Given the description of an element on the screen output the (x, y) to click on. 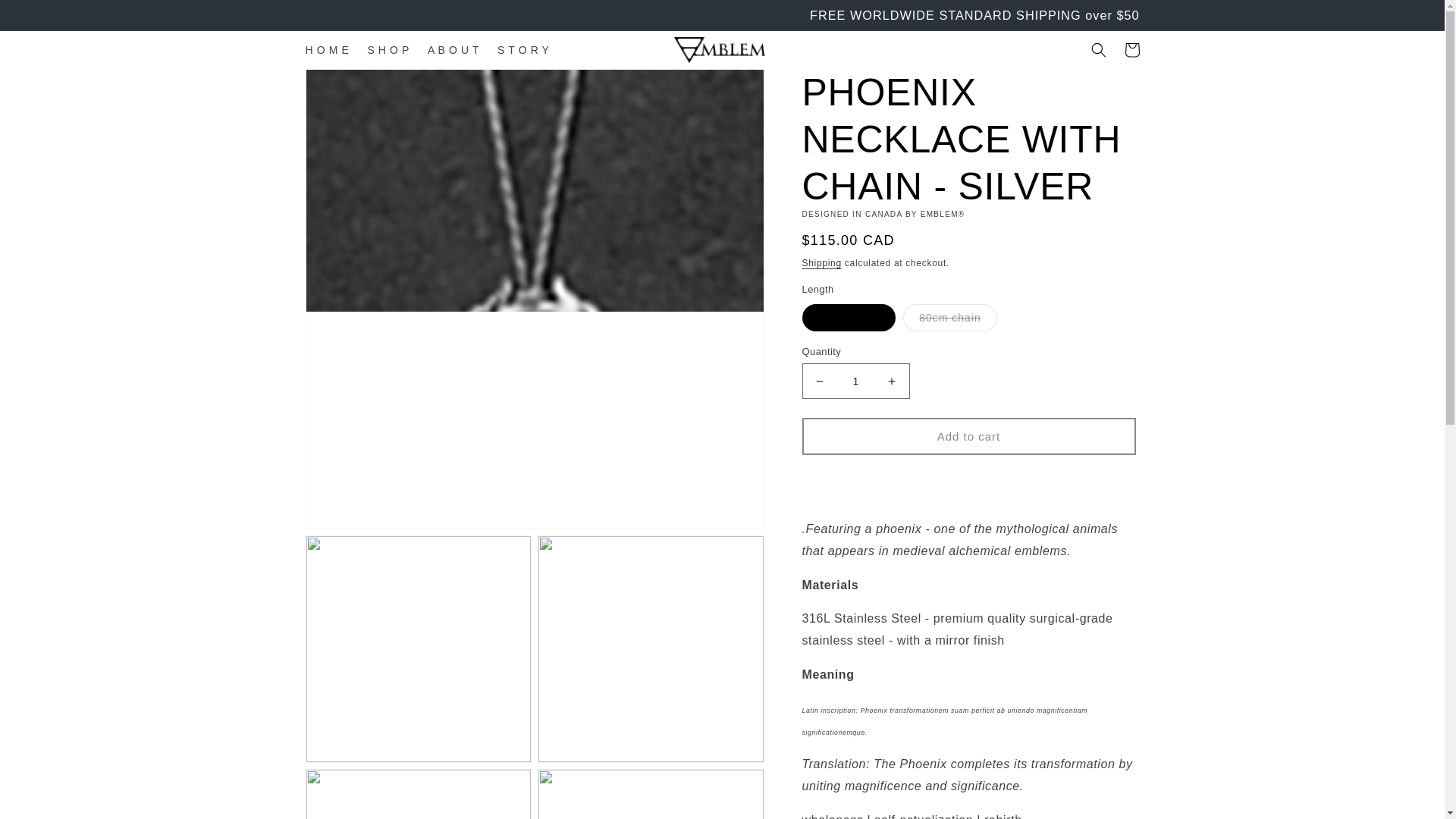
Cart (1131, 49)
Add to cart (968, 436)
Shipping (821, 262)
Skip to content (46, 18)
A B O U T (453, 50)
S H O P (388, 50)
S T O R Y (522, 50)
1 (856, 380)
